Given the description of an element on the screen output the (x, y) to click on. 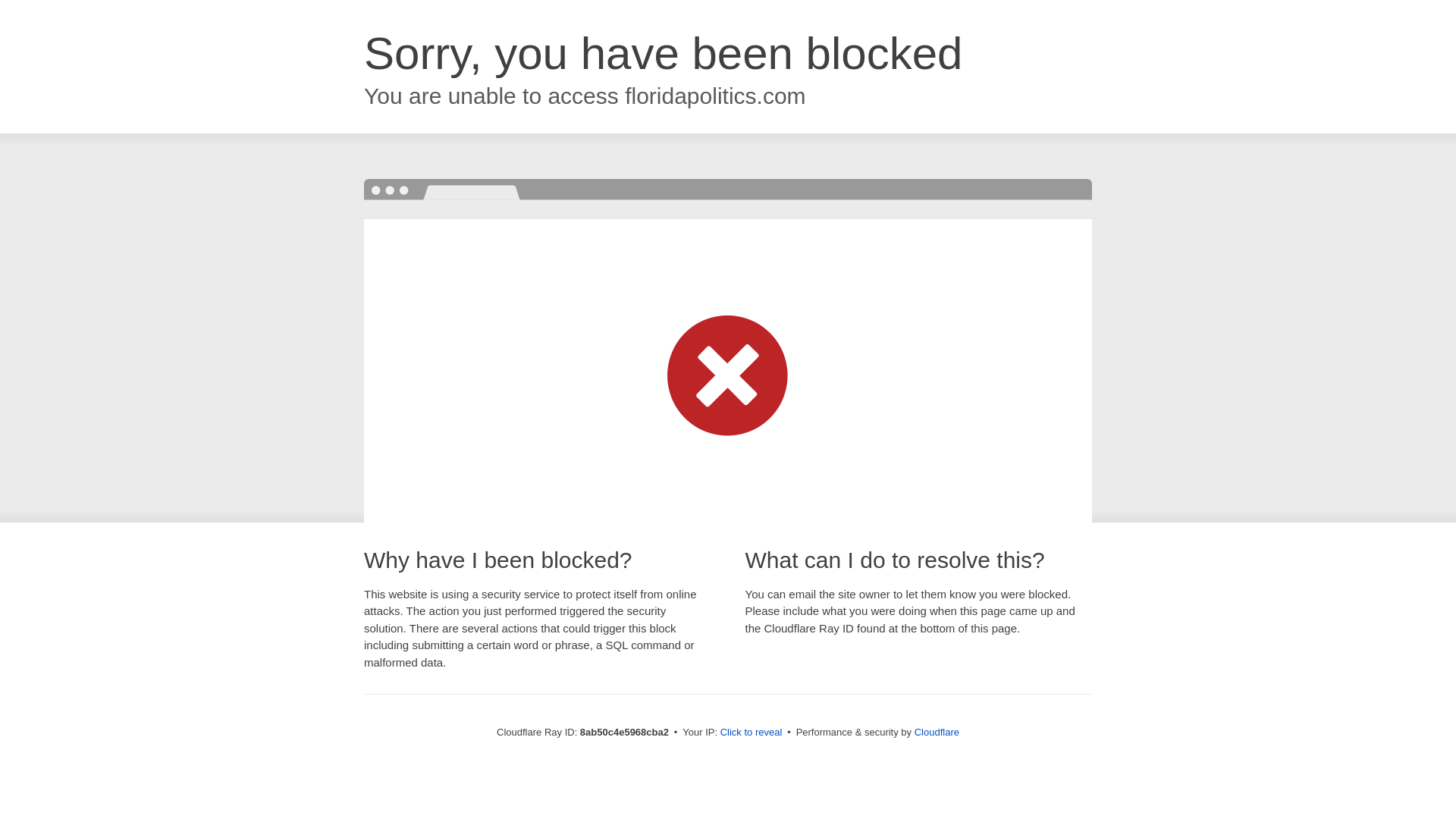
Click to reveal (751, 732)
Cloudflare (936, 731)
